Given the description of an element on the screen output the (x, y) to click on. 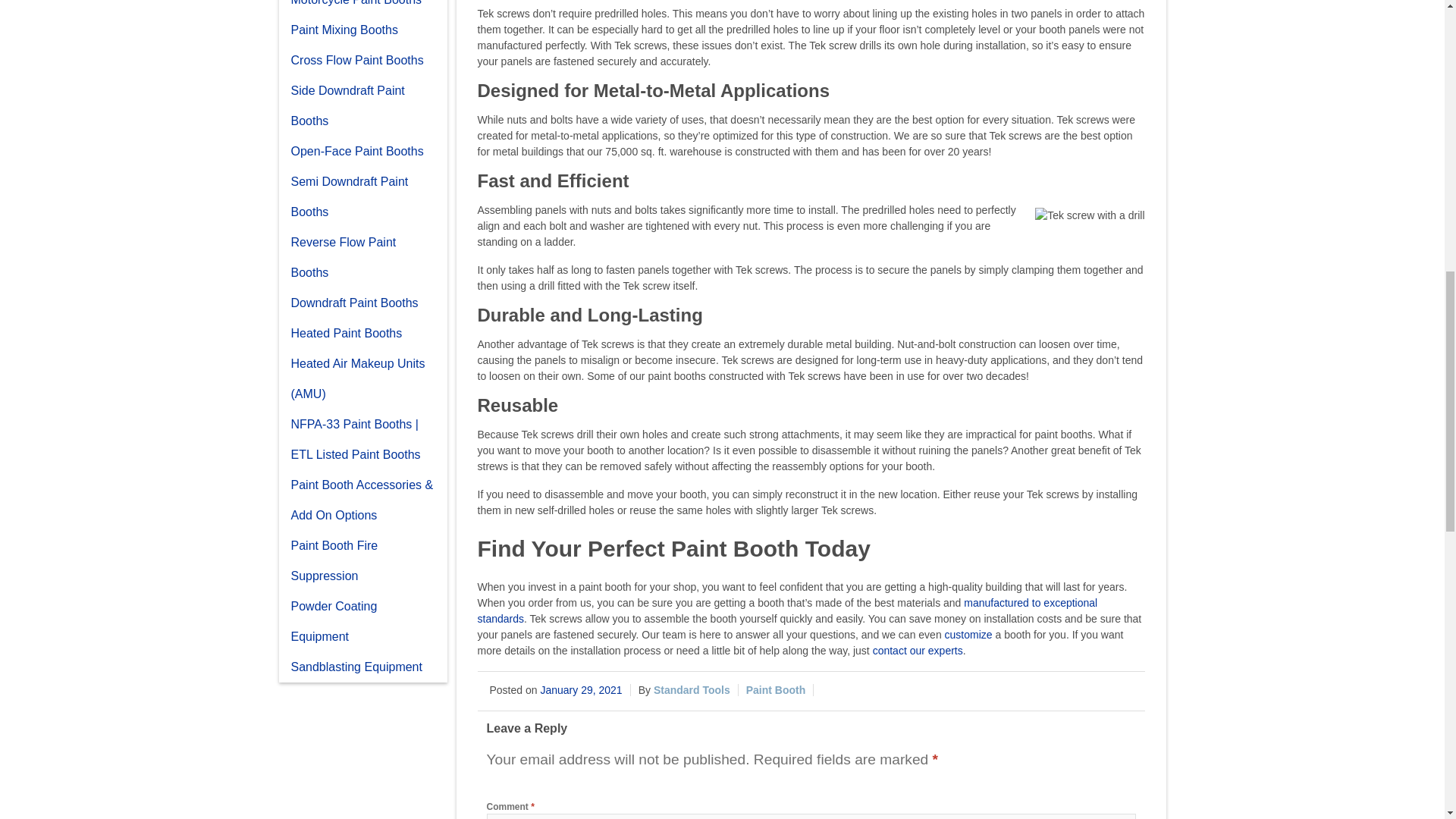
Motorcycle Paint Booths (362, 7)
Paint Booth (775, 689)
January 29, 2021 (580, 689)
contact our experts (917, 650)
customize (968, 634)
manufactured to exceptional standards (787, 610)
Standard Tools (691, 689)
